Given the description of an element on the screen output the (x, y) to click on. 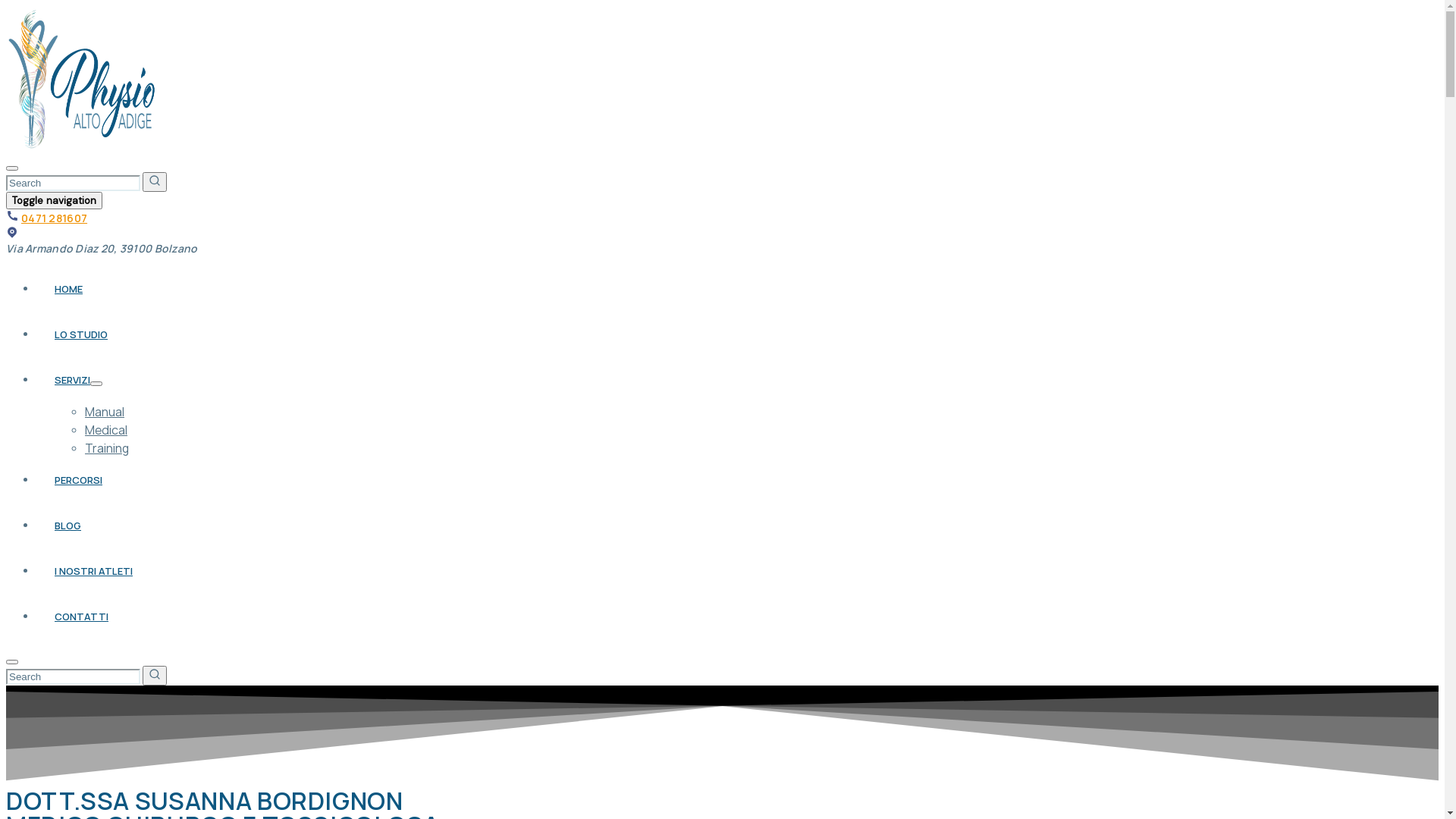
PERCORSI Element type: text (78, 479)
Medical Element type: text (105, 429)
HOME Element type: text (68, 288)
LO STUDIO Element type: text (80, 334)
I NOSTRI ATLETI Element type: text (93, 570)
Open Search Element type: hover (12, 168)
Show sub menu Element type: text (96, 383)
0471 281607 Element type: text (54, 217)
BLOG Element type: text (67, 525)
Skip to Content Element type: text (5, 5)
CONTATTI Element type: text (81, 616)
Toggle navigation Element type: text (54, 200)
Manual Element type: text (104, 411)
Open Search Element type: hover (12, 661)
SERVIZI Element type: text (72, 379)
Training Element type: text (106, 447)
